Given the description of an element on the screen output the (x, y) to click on. 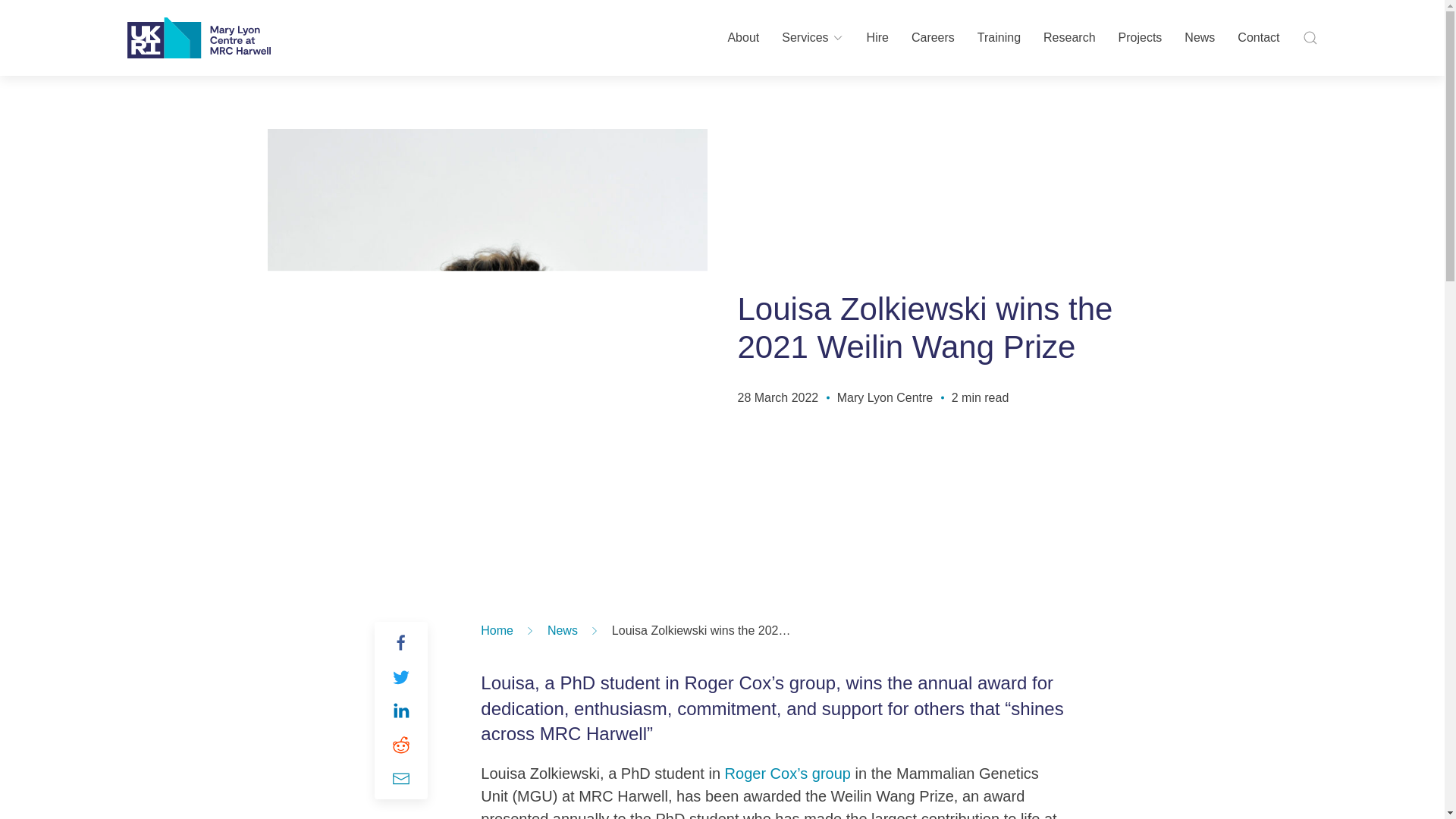
Share post on Facebook (400, 642)
Services (812, 38)
Research (1069, 38)
Share post on LinkedIn (400, 710)
Home (496, 630)
Navigate to MLC Homepage (198, 37)
Share post on Twitter (400, 677)
Share post via email (400, 778)
Share post on Reddit (400, 744)
